Given the description of an element on the screen output the (x, y) to click on. 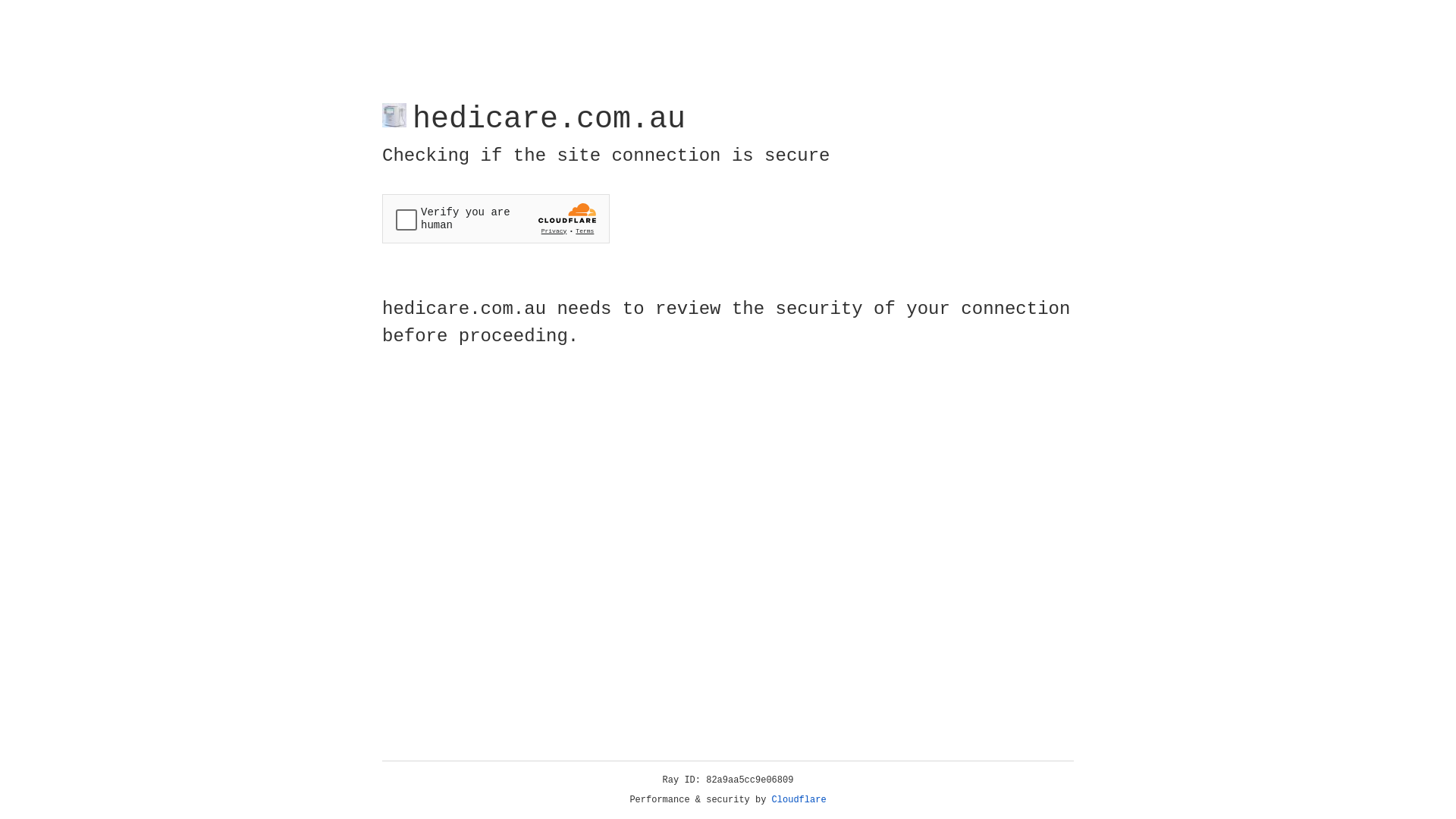
Cloudflare Element type: text (798, 799)
Widget containing a Cloudflare security challenge Element type: hover (495, 218)
